Given the description of an element on the screen output the (x, y) to click on. 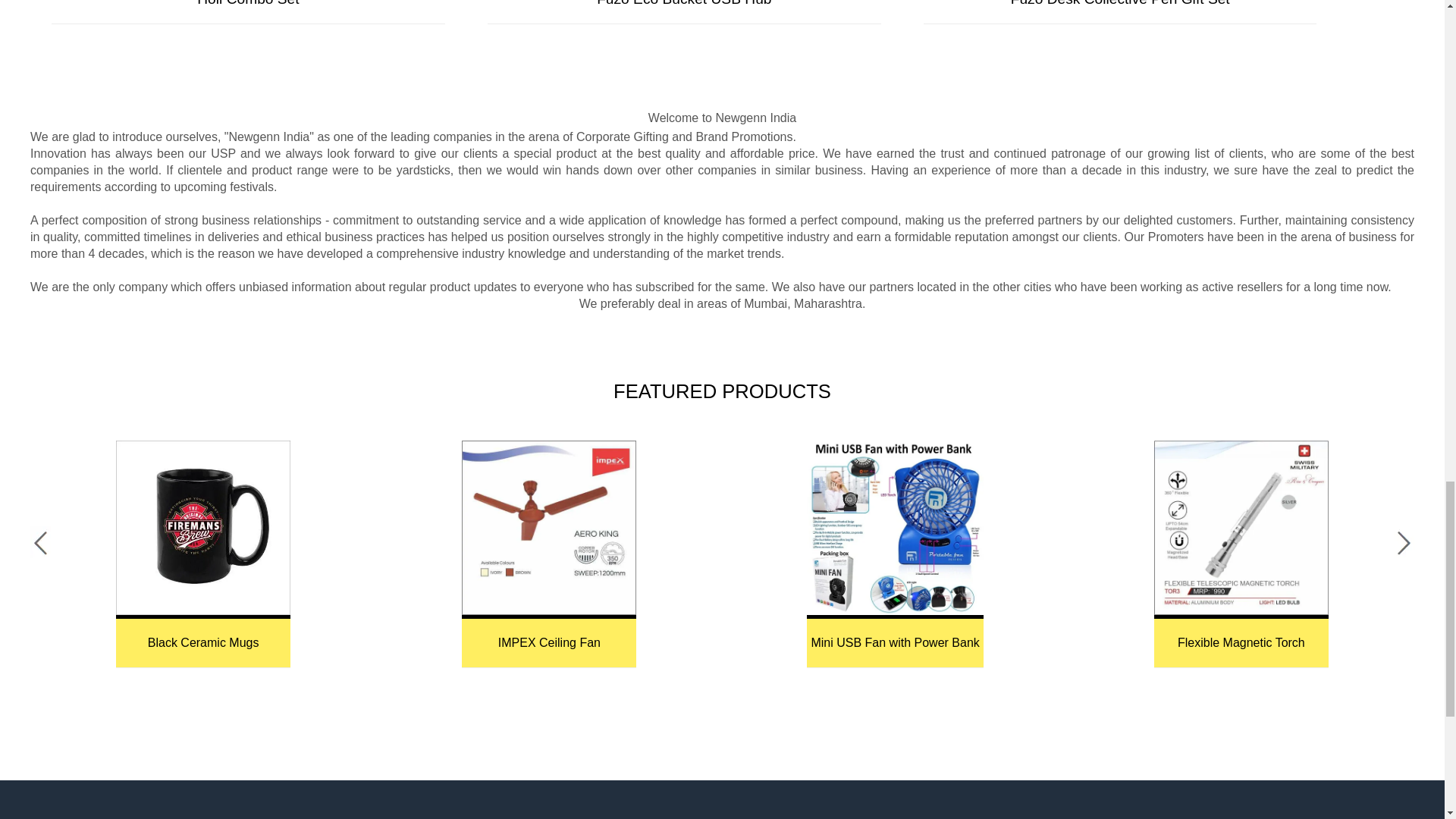
Black Ceramic Mugs (202, 527)
IMPEX Ceiling Fan (548, 527)
Fuzo Desk Collective Pen Gift Set (1119, 4)
Mini USB Fan with Power Bank (894, 527)
Fuzo Eco Bucket USB Hub (683, 4)
Flexible Magnetic Torch (1240, 527)
Holi Combo Set (247, 4)
